Given the description of an element on the screen output the (x, y) to click on. 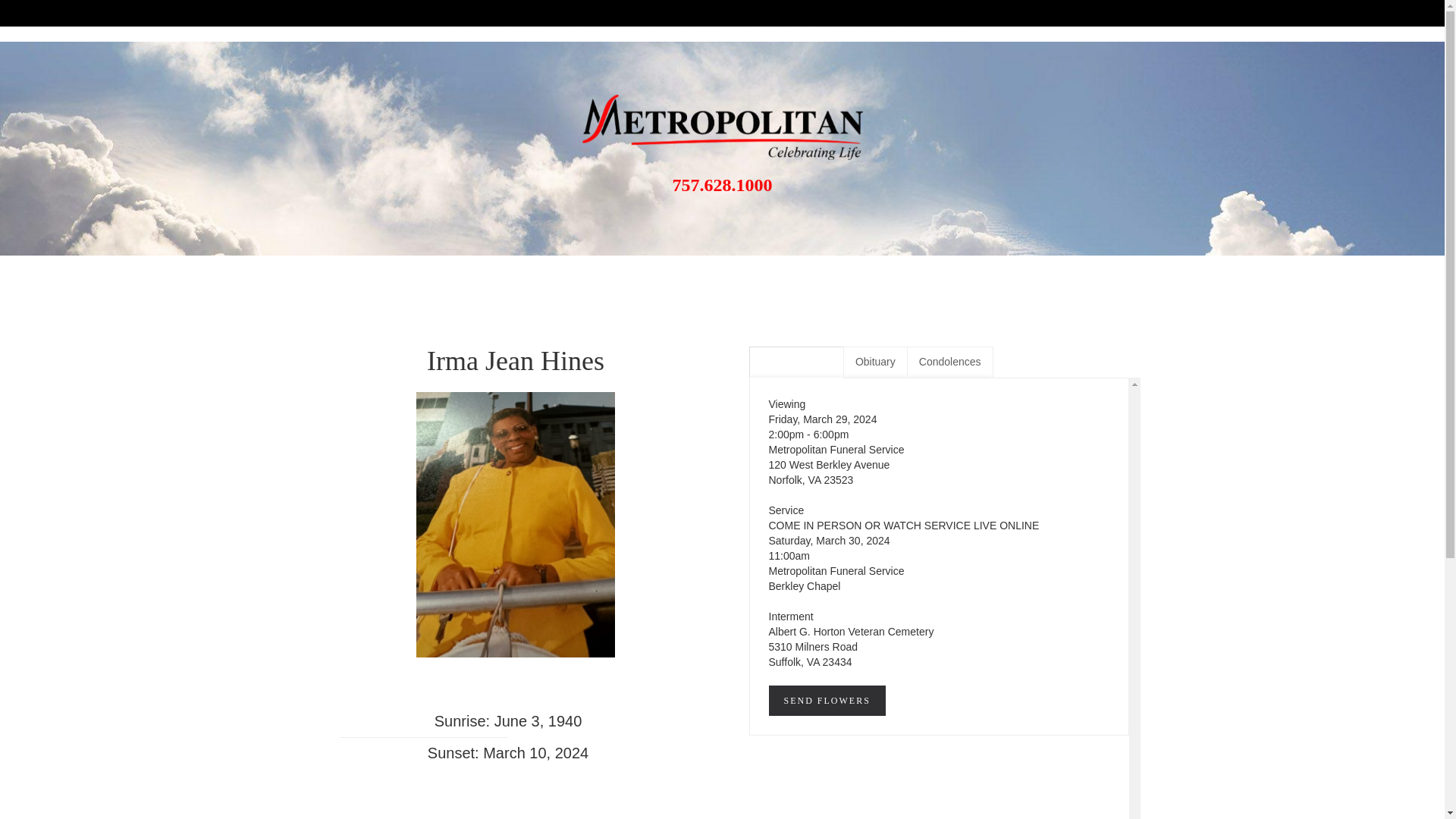
LIVE STREAMING (878, 30)
SEND FLOWERS (826, 700)
Service Details (796, 362)
FACILITIES (705, 30)
CONTACT US (967, 30)
SERVICES (639, 30)
Obituary (875, 362)
Condolences (949, 362)
PRE-PLANNING (784, 30)
757.628.1000 (721, 184)
